Given the description of an element on the screen output the (x, y) to click on. 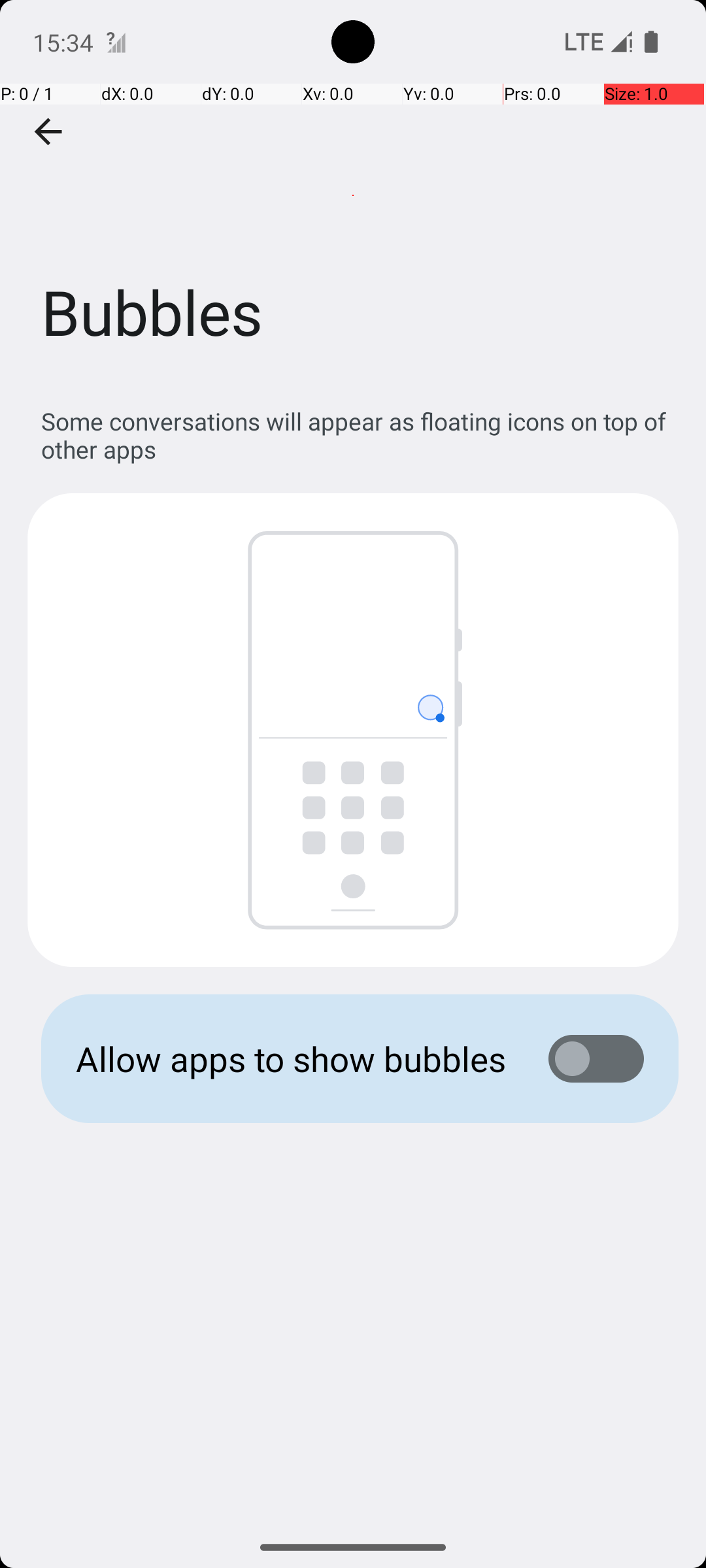
Some conversations will appear as floating icons on top of other apps Element type: android.widget.TextView (359, 434)
Allow apps to show bubbles Element type: android.widget.TextView (291, 1058)
